Given the description of an element on the screen output the (x, y) to click on. 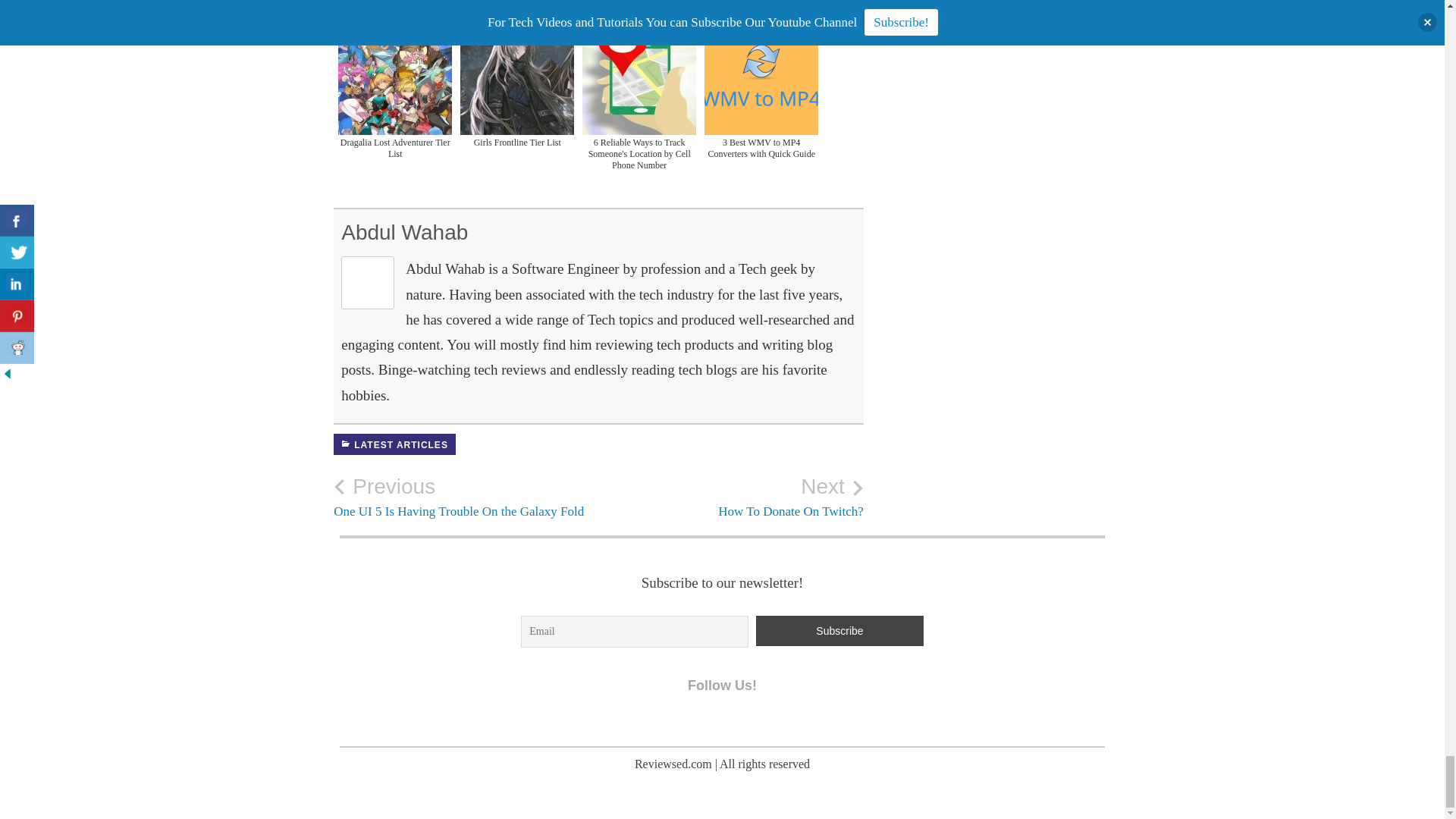
Follow Us on YouTube (782, 724)
Follow Us on Instagram (750, 724)
All posts by Abdul Wahab (403, 232)
Follow Us on Twitter (686, 724)
Subscribe (839, 630)
Follow Us on LinkedIn (718, 724)
Follow Us on Facebook (654, 724)
